Given the description of an element on the screen output the (x, y) to click on. 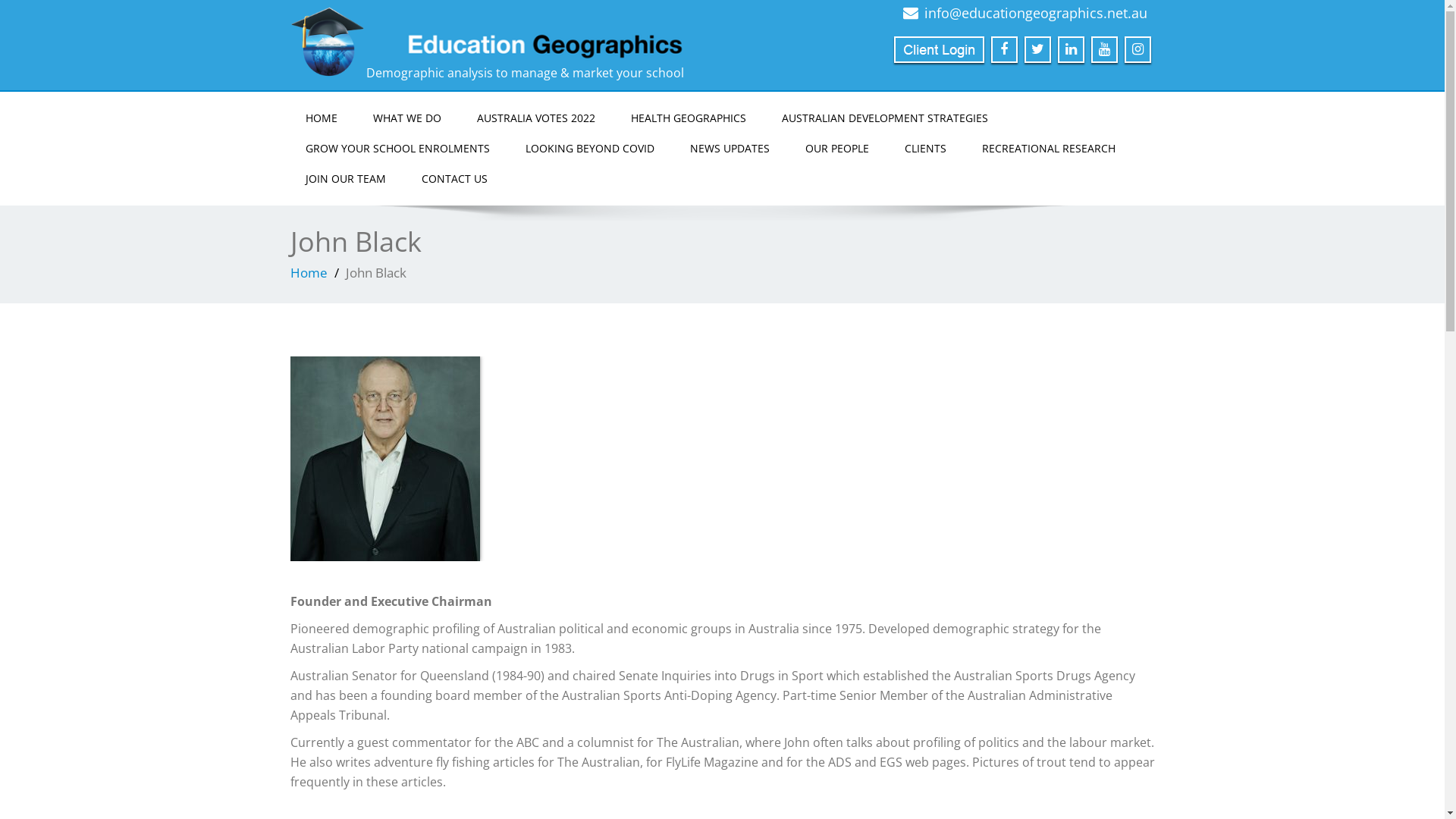
AUSTRALIA VOTES 2022 Element type: text (535, 118)
info@educationgeographics.net.au Element type: text (1034, 12)
GROW YOUR SCHOOL ENROLMENTS Element type: text (396, 148)
Youtube Element type: hover (1103, 49)
NEWS UPDATES Element type: text (729, 148)
CONTACT US Element type: text (454, 178)
Instagram Element type: hover (1136, 49)
HEALTH GEOGRAPHICS Element type: text (688, 118)
JOIN OUR TEAM Element type: text (344, 178)
CLIENTS Element type: text (924, 148)
Linkedin Element type: hover (1070, 49)
Facebook Element type: hover (1003, 49)
RECREATIONAL RESEARCH Element type: text (1047, 148)
LOOKING BEYOND COVID Element type: text (588, 148)
OUR PEOPLE Element type: text (837, 148)
WHAT WE DO Element type: text (406, 118)
Home Element type: text (307, 272)
HOME Element type: text (320, 118)
AUSTRALIAN DEVELOPMENT STRATEGIES Element type: text (883, 118)
Twitter Element type: hover (1036, 49)
